Given the description of an element on the screen output the (x, y) to click on. 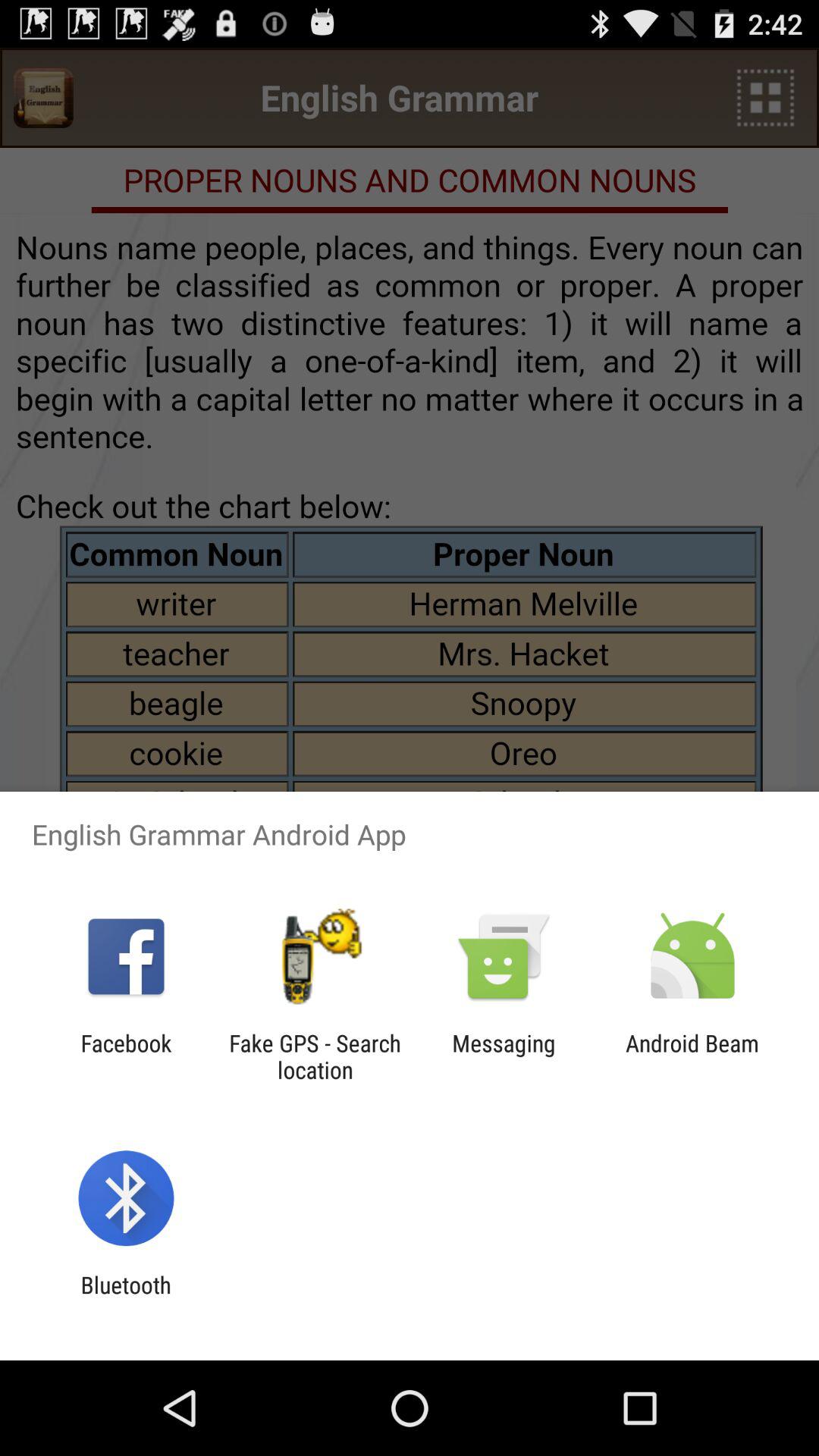
jump to the facebook app (125, 1056)
